Given the description of an element on the screen output the (x, y) to click on. 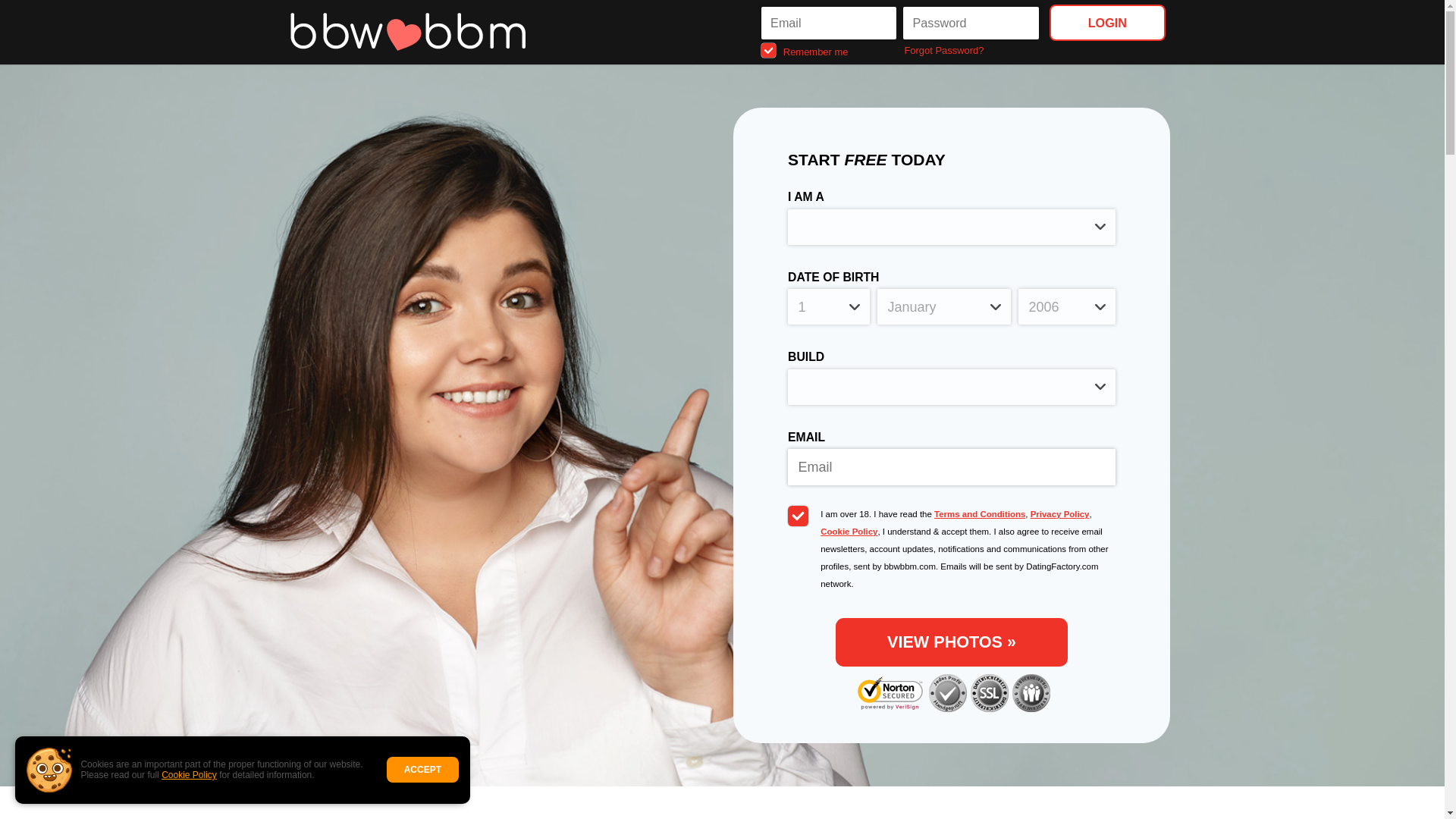
Cookie Policy (188, 774)
Cookie Policy (849, 531)
Forgot Password? (972, 50)
Privacy Policy (1059, 513)
Terms and Conditions (979, 513)
LOGIN (1106, 22)
